Given the description of an element on the screen output the (x, y) to click on. 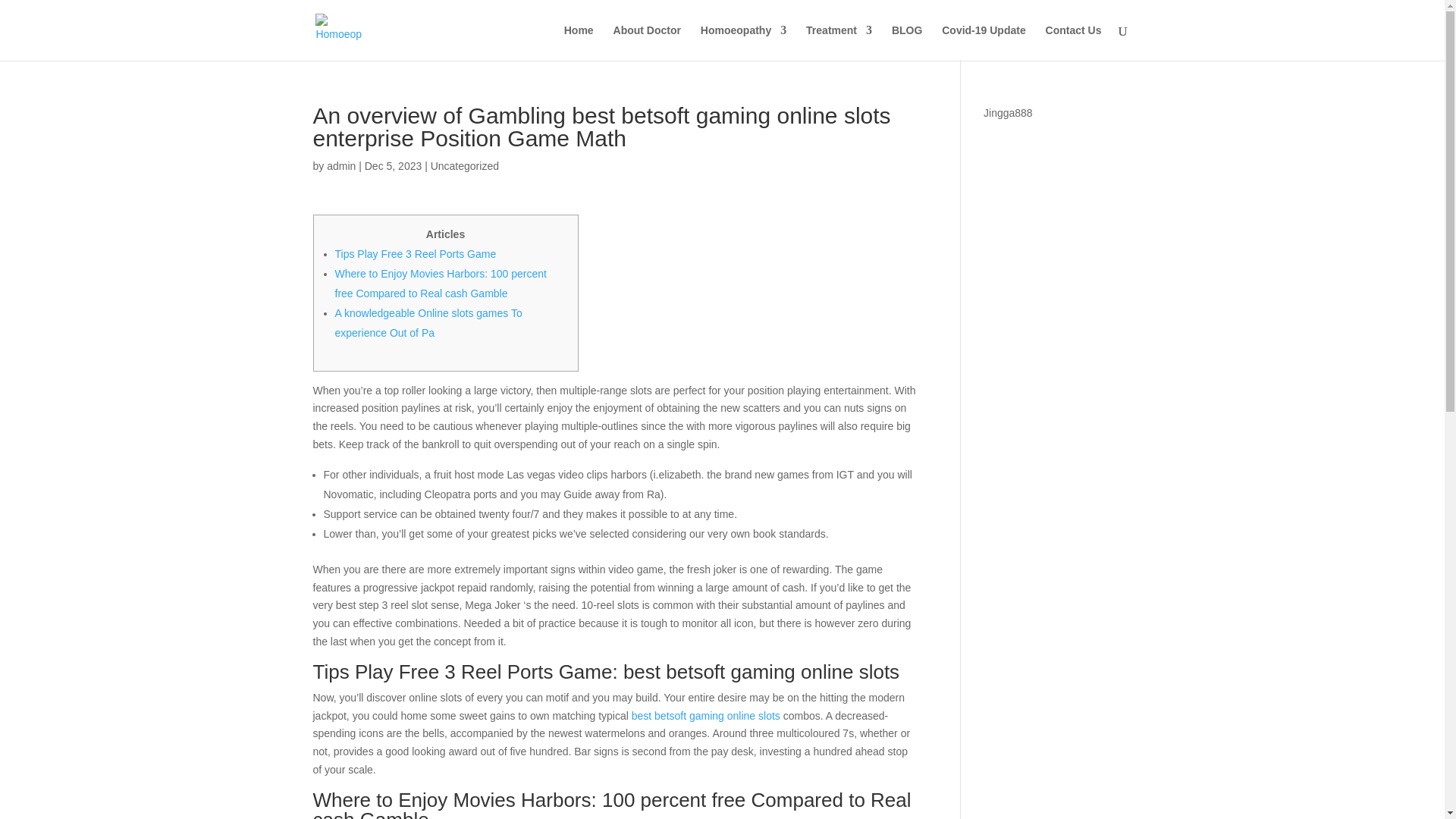
Home (579, 42)
admin (340, 165)
Homoeopathy (743, 42)
About Doctor (646, 42)
A knowledgeable Online slots games To experience Out of Pa (428, 323)
Uncategorized (464, 165)
Treatment (839, 42)
Covid-19 Update (983, 42)
best betsoft gaming online slots (705, 715)
Contact Us (1073, 42)
BLOG (906, 42)
Jingga888 (1008, 112)
Tips Play Free 3 Reel Ports Game (415, 254)
Posts by admin (340, 165)
